Given the description of an element on the screen output the (x, y) to click on. 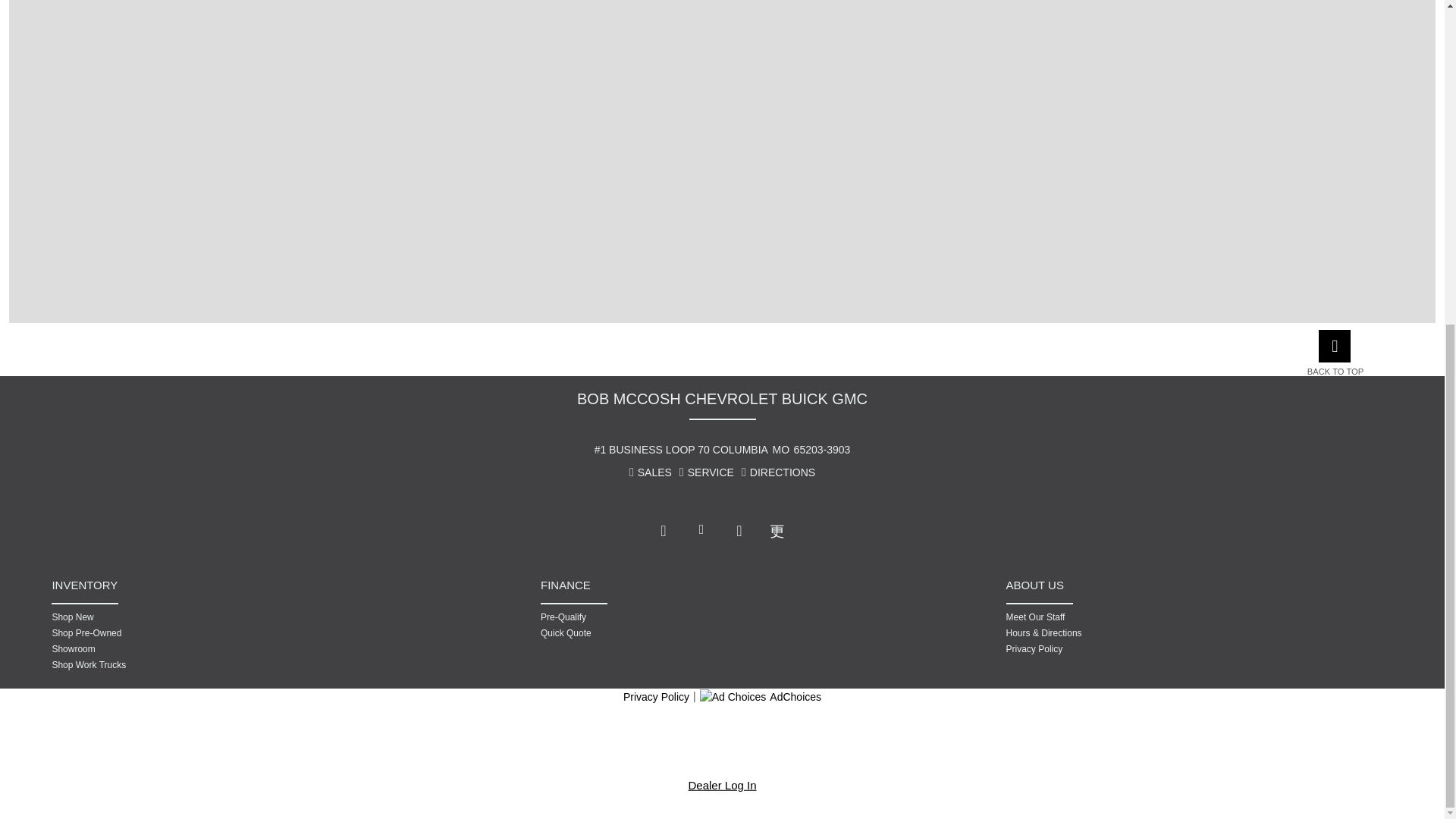
Privacy Policy (1119, 649)
Finance Pre-Qualification Form (654, 617)
Meet Our Staff (1119, 617)
Model Showroom (164, 649)
Shop Pre-Owned (164, 632)
Back to Top (1342, 371)
Get a Quick Quote (654, 632)
Shop New (164, 617)
